Given the description of an element on the screen output the (x, y) to click on. 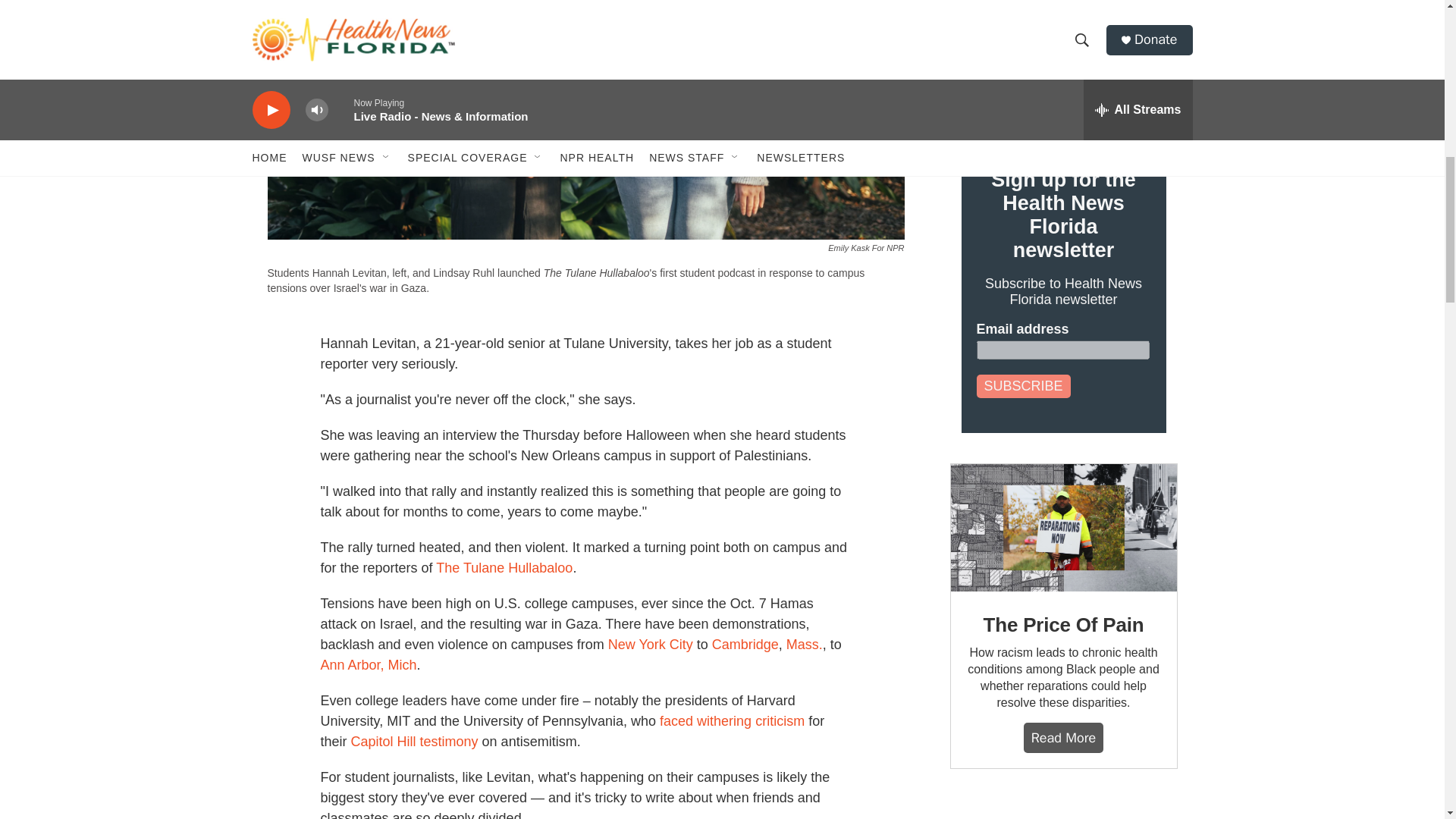
3rd party ad content (1062, 809)
